Given the description of an element on the screen output the (x, y) to click on. 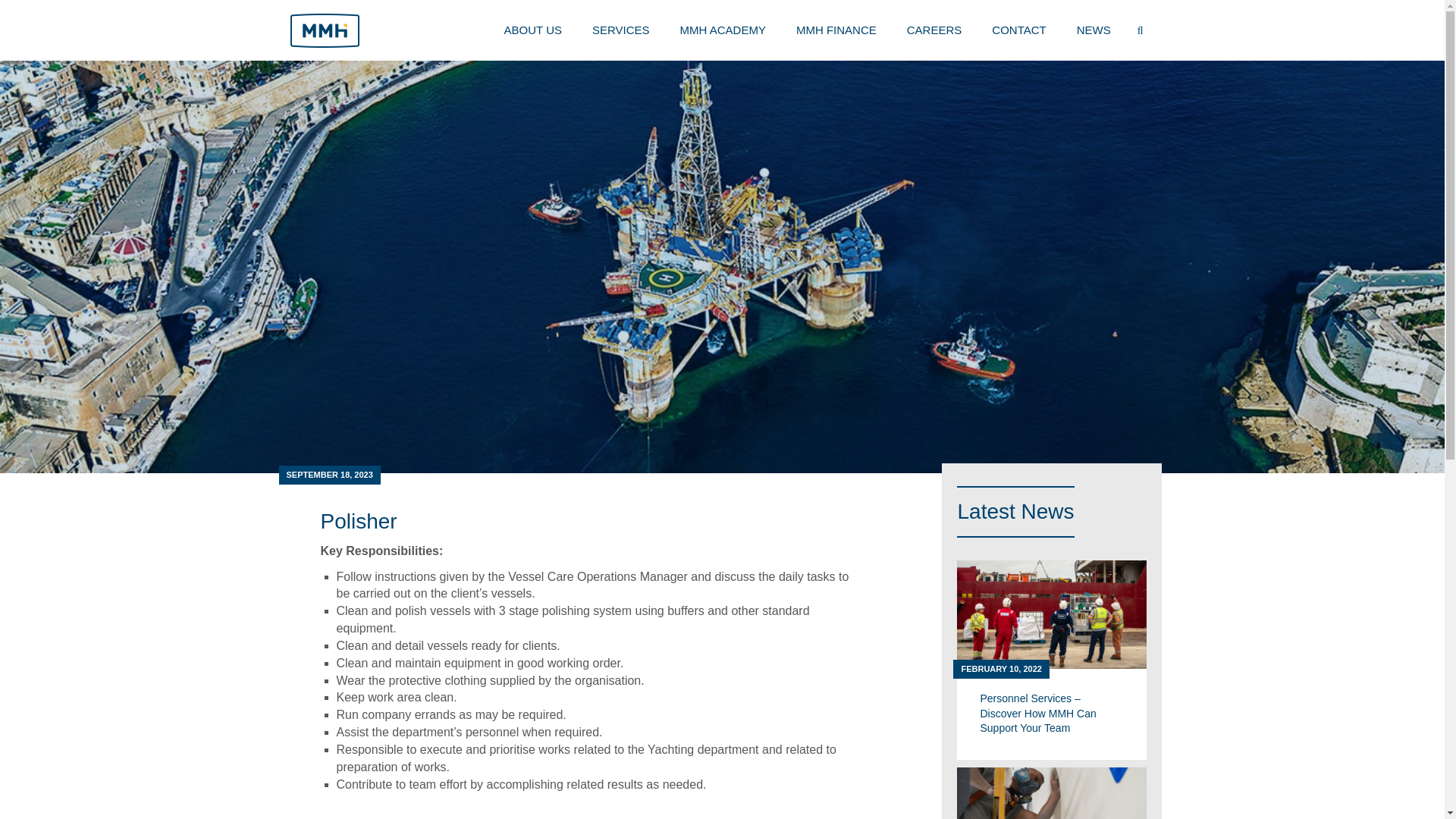
News (1093, 30)
CAREERS (933, 30)
Careers (933, 30)
MMH Finance (835, 30)
About Us (532, 30)
ABOUT US (532, 30)
Services (620, 30)
Contact (1018, 30)
NEWS (1093, 30)
CONTACT (1018, 30)
MMH ACADEMY (722, 30)
MMH Academy (722, 30)
SERVICES (620, 30)
MMH FINANCE (835, 30)
